Given the description of an element on the screen output the (x, y) to click on. 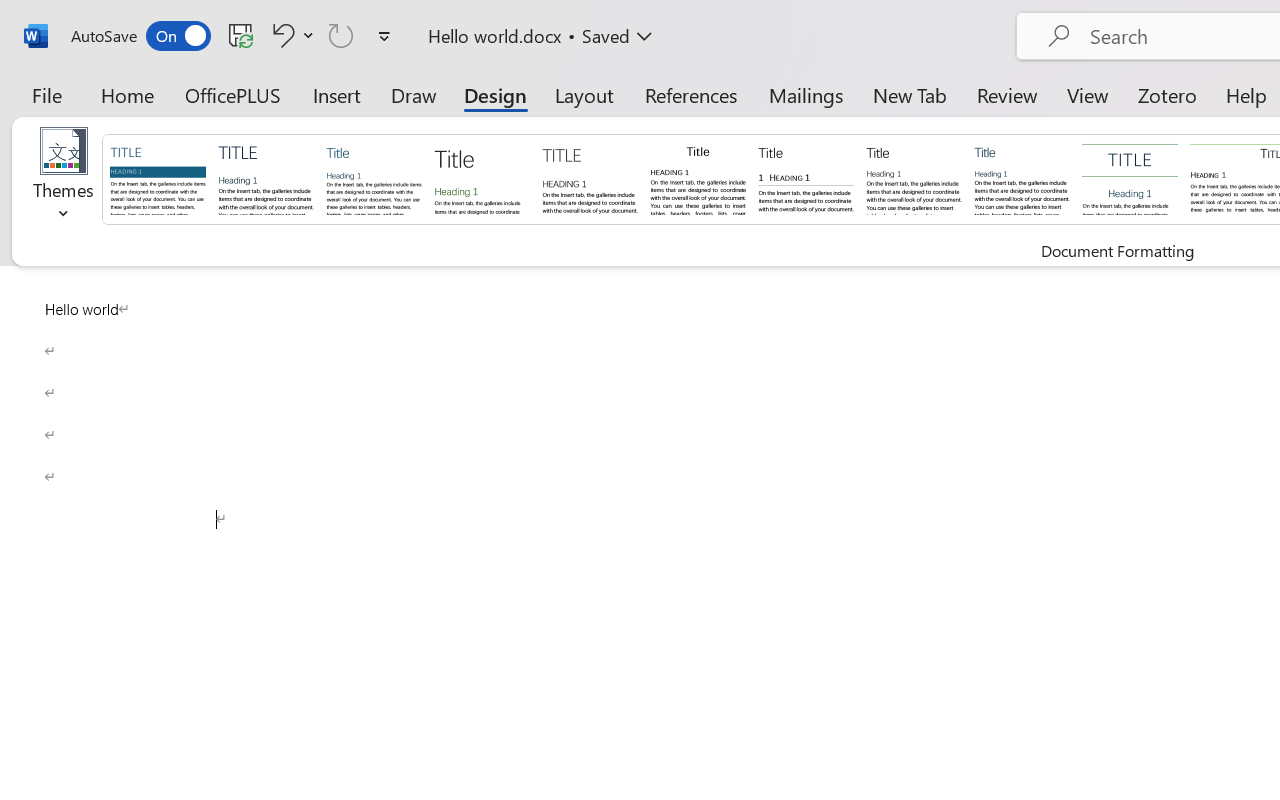
OfficePLUS (233, 94)
View (1087, 94)
Can't Repeat (341, 35)
Black & White (Numbered) (806, 178)
Save (241, 35)
